Given the description of an element on the screen output the (x, y) to click on. 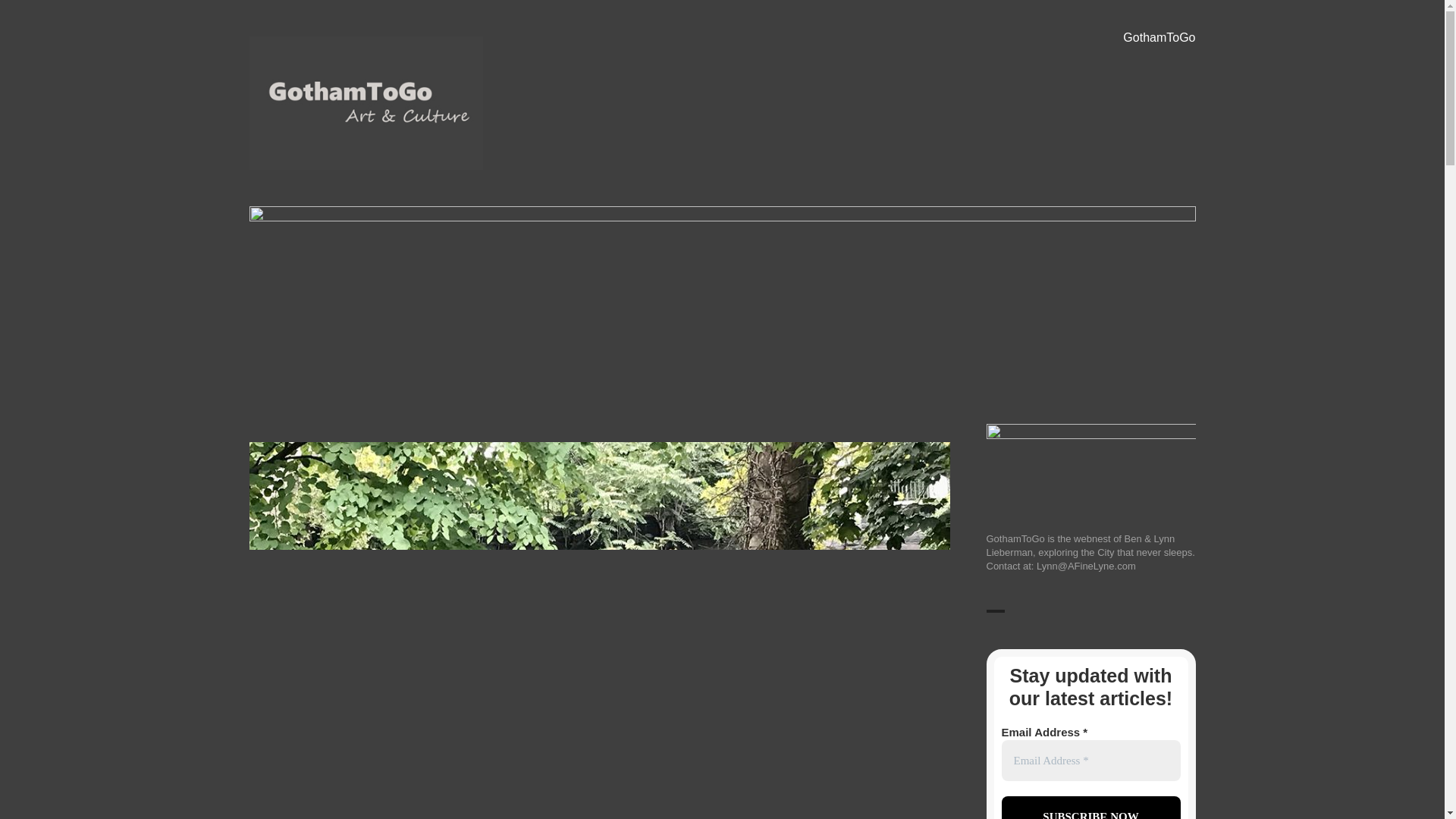
SUBSCRIBE NOW (1090, 807)
GothamToGo (1158, 37)
GothamToGo (319, 191)
